Given the description of an element on the screen output the (x, y) to click on. 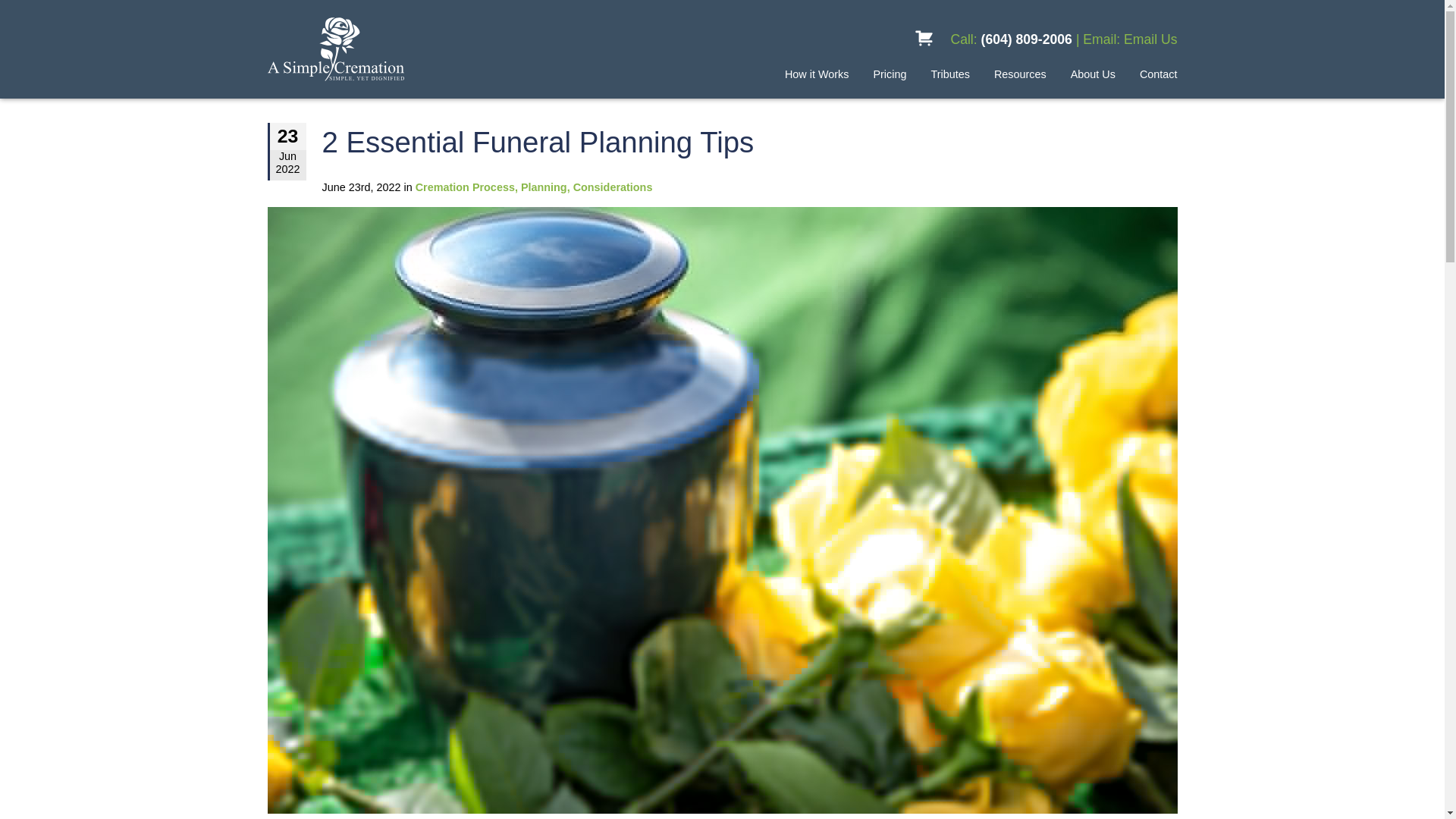
How it Works (816, 73)
Cremation Process, Planning, Considerations (533, 186)
Contact (1158, 73)
Pricing (888, 73)
Category: Cremation Process, Planning, Considerations (533, 186)
About Us (1092, 73)
Tributes (949, 73)
Resources (1020, 73)
A Simple Cremation - Home (390, 49)
